Given the description of an element on the screen output the (x, y) to click on. 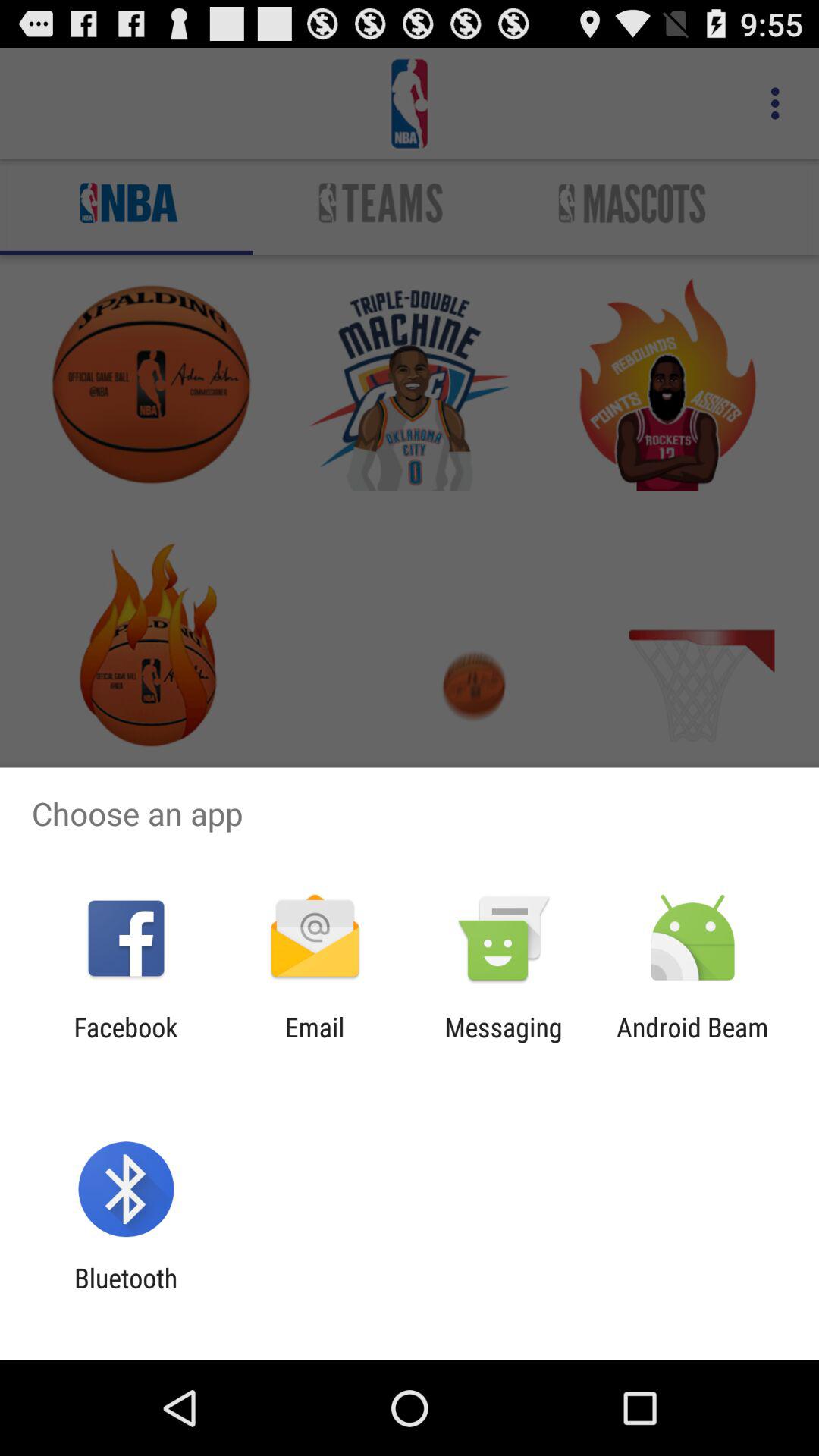
scroll until the android beam app (692, 1042)
